Given the description of an element on the screen output the (x, y) to click on. 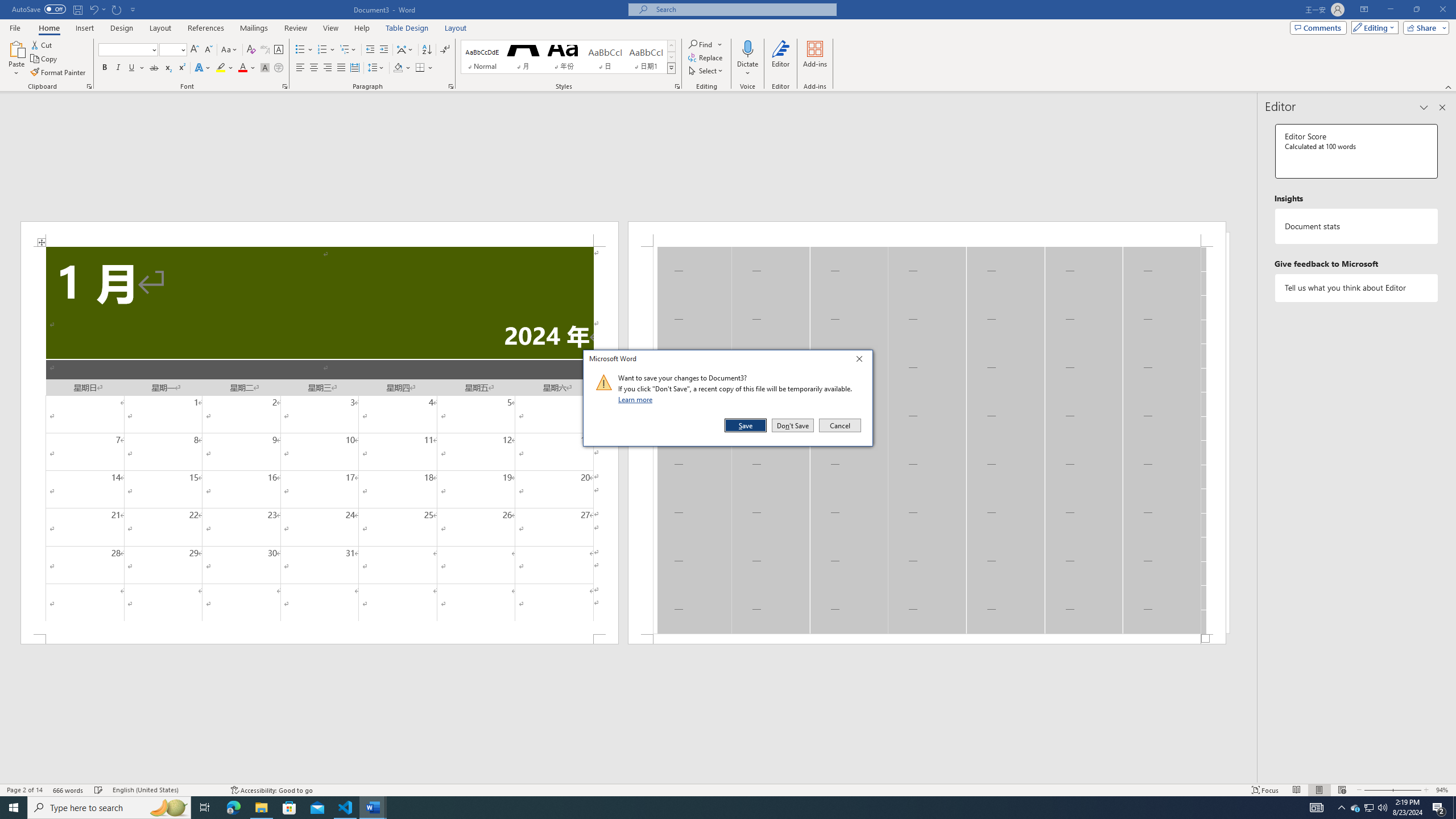
Close (862, 360)
Paste (1355, 807)
Grow Font (16, 58)
Paragraph... (193, 49)
Microsoft Store (450, 85)
Document statistics (289, 807)
Styles... (1356, 226)
Bullets (676, 85)
Layout (304, 49)
Show desktop (455, 28)
Comments (1454, 807)
Notification Chevron (1318, 27)
Design (1341, 807)
Sort... (122, 28)
